Given the description of an element on the screen output the (x, y) to click on. 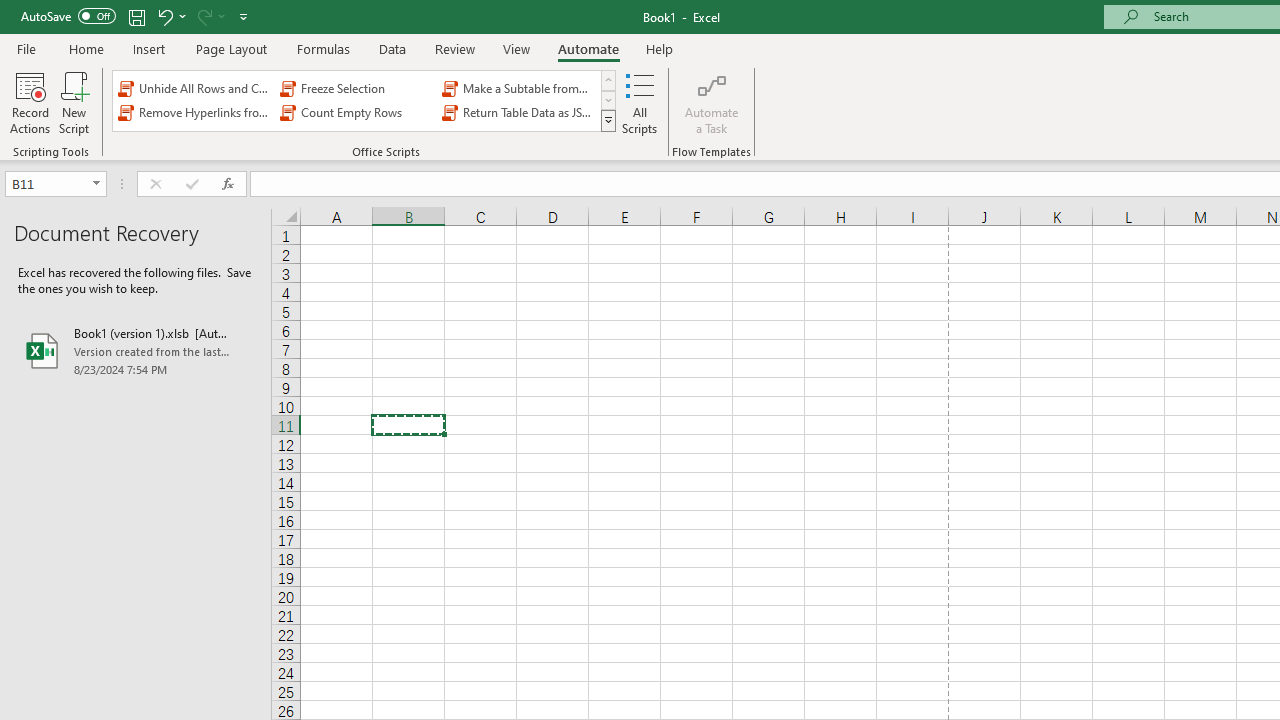
Remove Hyperlinks from Sheet (194, 112)
AutomationID: OfficeScriptsGallery (365, 100)
Automate a Task (712, 102)
Return Table Data as JSON (518, 112)
Unhide All Rows and Columns (194, 88)
